Given the description of an element on the screen output the (x, y) to click on. 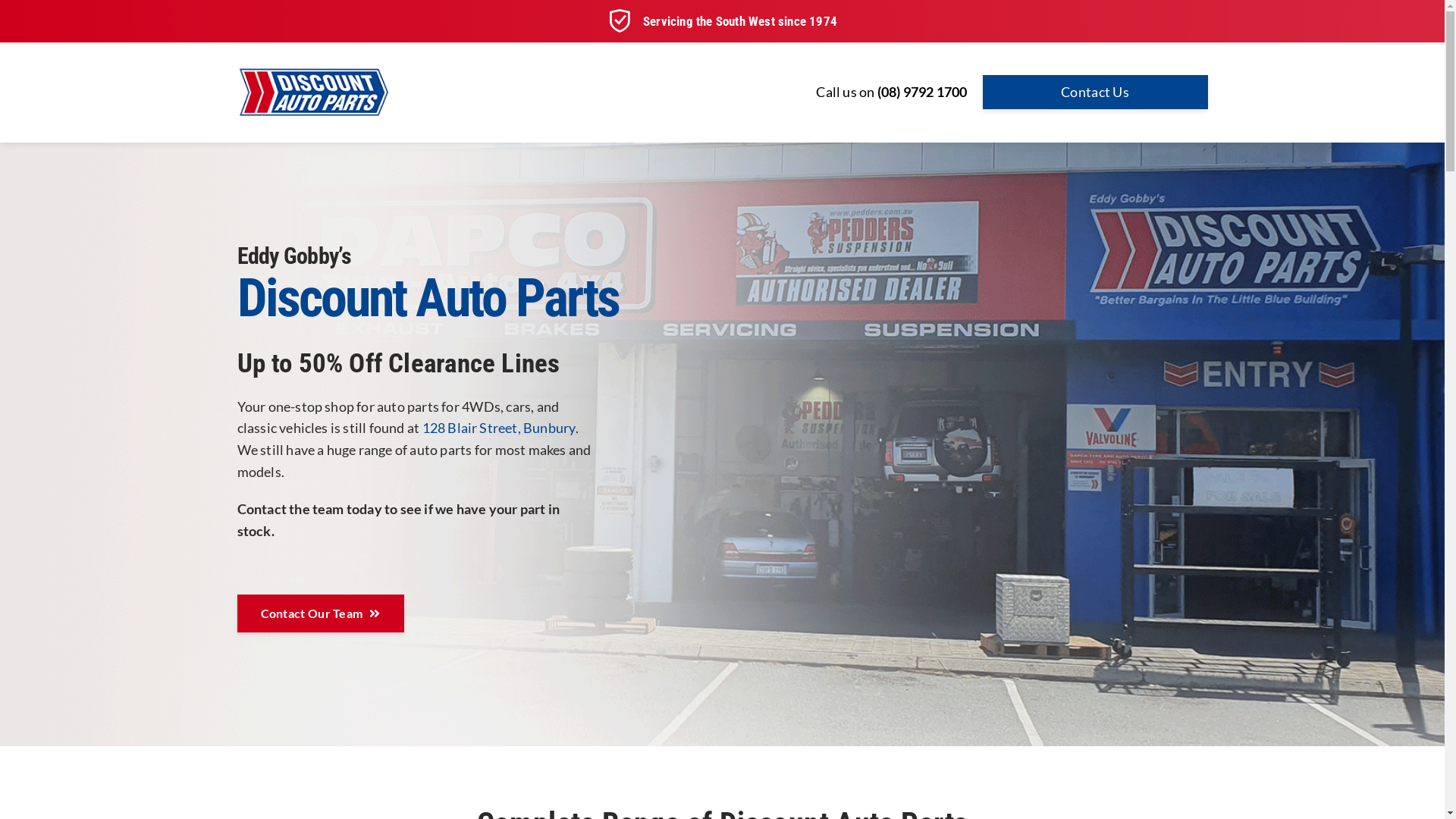
Call us on (08) 9792 1700 Element type: text (890, 92)
128 Blair Street, Bunbury Element type: text (497, 427)
Contact Our Team Element type: text (320, 613)
Contact Us Element type: text (1095, 92)
